Given the description of an element on the screen output the (x, y) to click on. 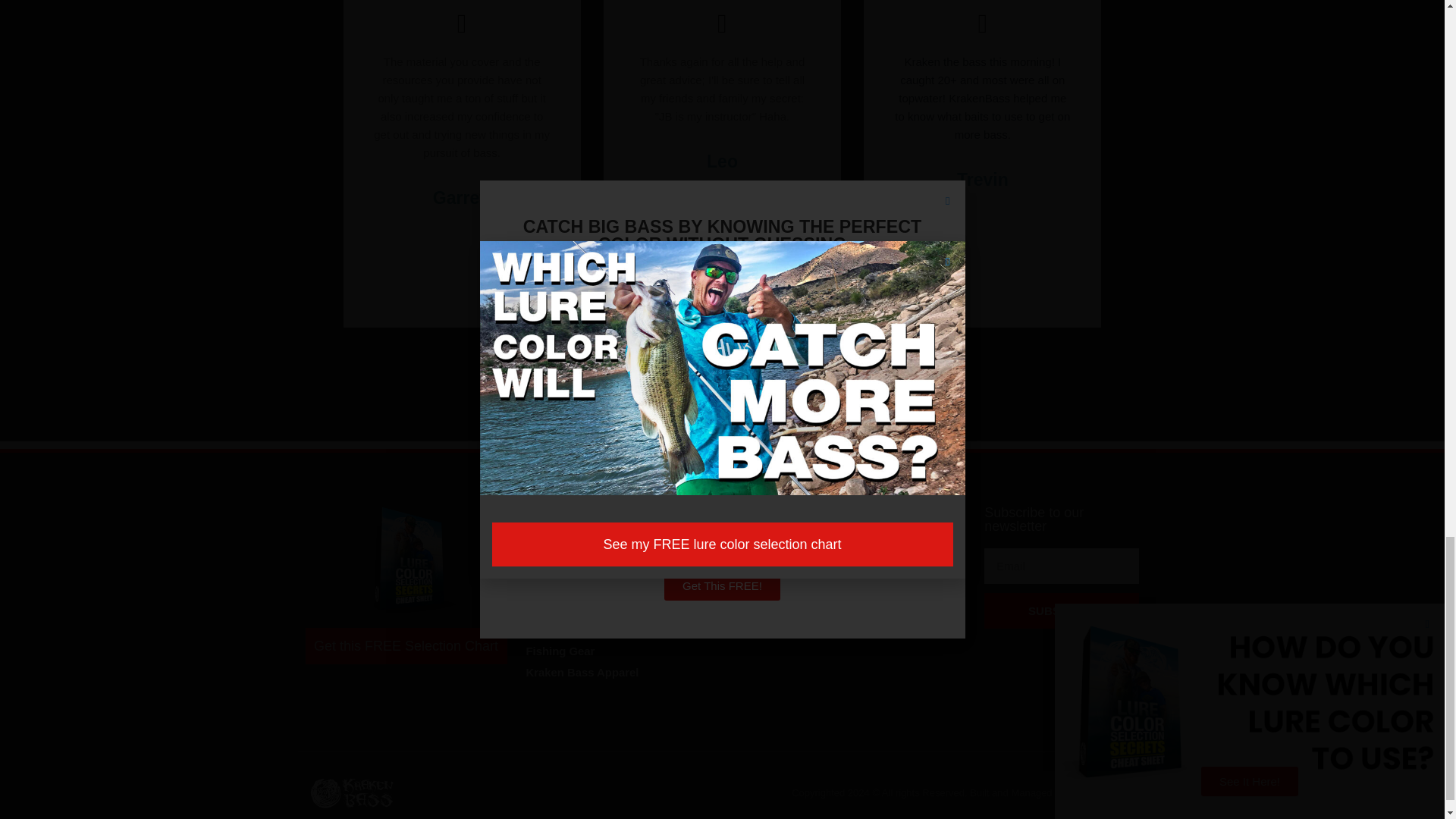
All Products (593, 545)
Bait Selection Tools (593, 566)
Get this FREE Selection Chart (405, 646)
